Given the description of an element on the screen output the (x, y) to click on. 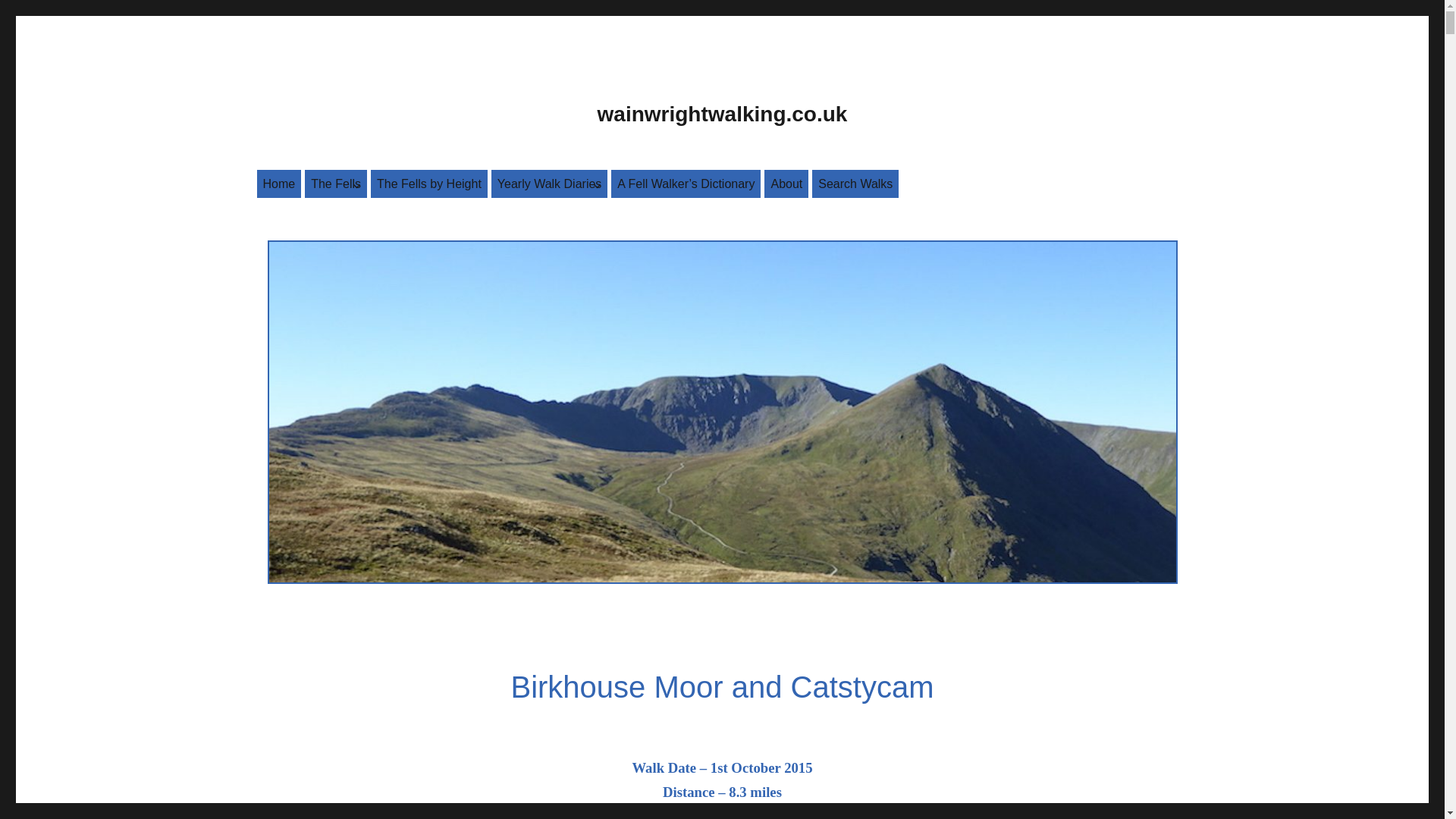
Search Walks (855, 183)
The Fells by Height (429, 183)
Home (278, 183)
wainwrightwalking.co.uk (721, 114)
Yearly Walk Diaries (550, 183)
About (786, 183)
The Fells (335, 183)
